Given the description of an element on the screen output the (x, y) to click on. 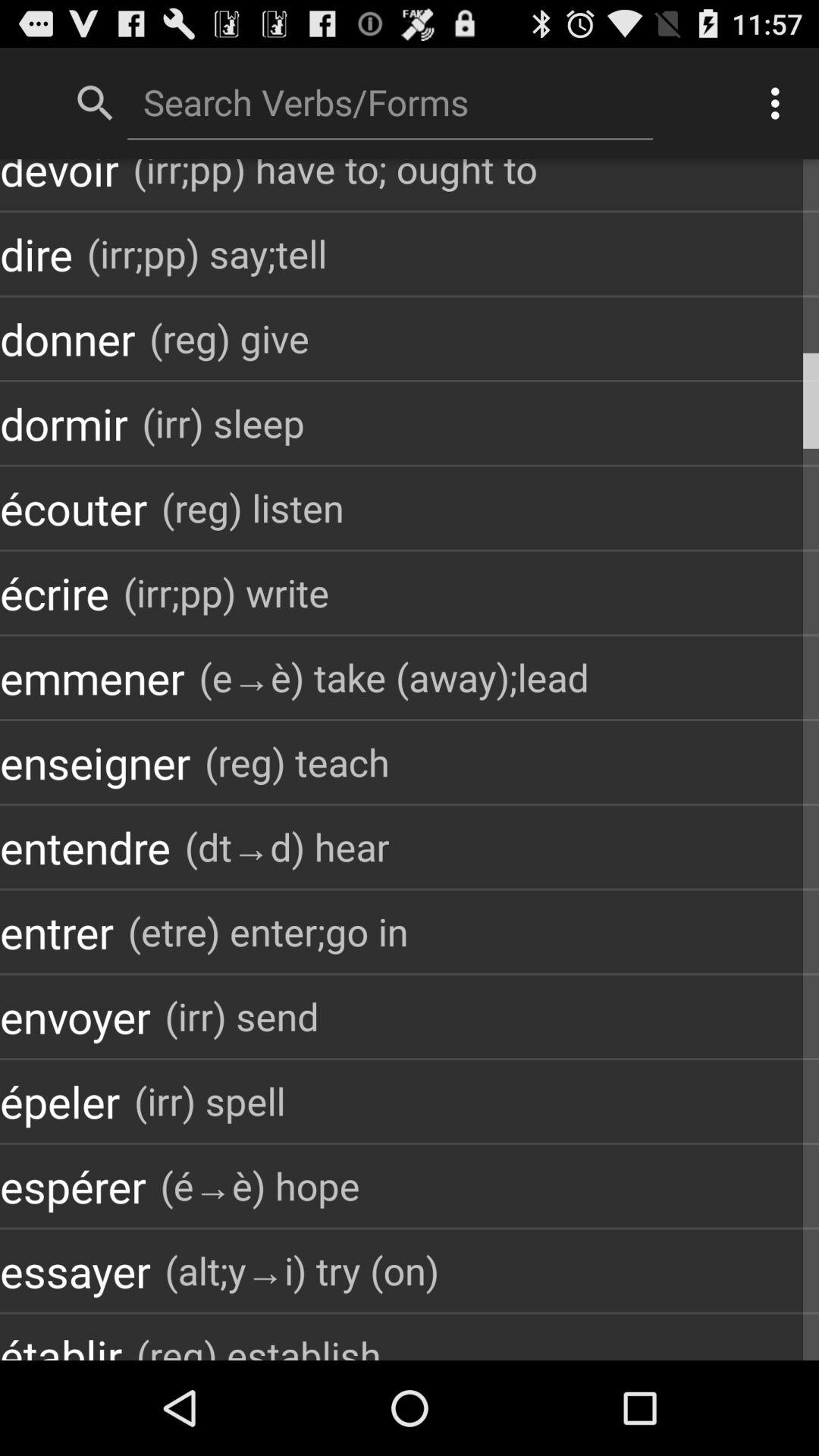
open essayer app (75, 1270)
